Given the description of an element on the screen output the (x, y) to click on. 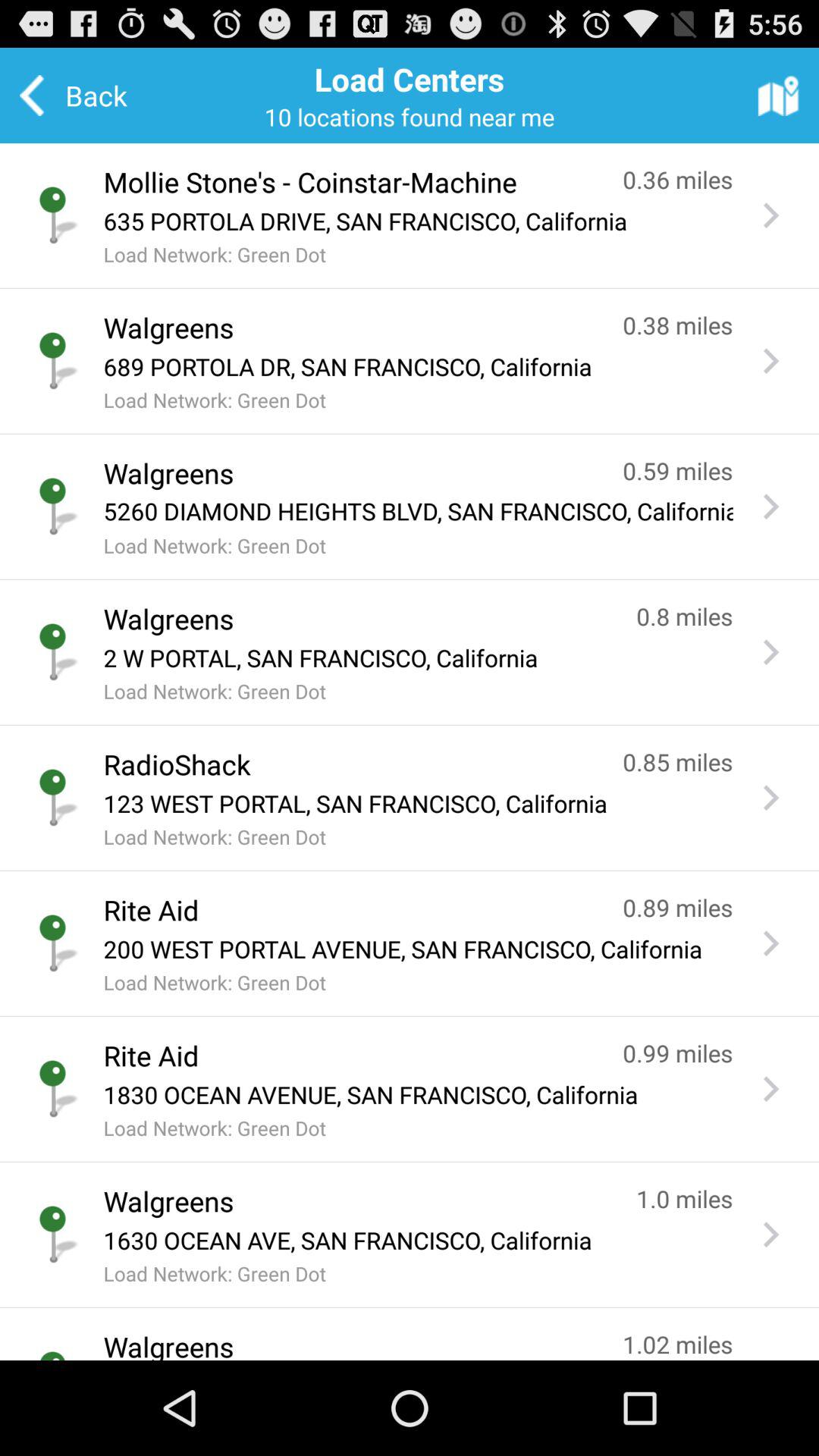
turn off app above the load network green app (418, 220)
